Given the description of an element on the screen output the (x, y) to click on. 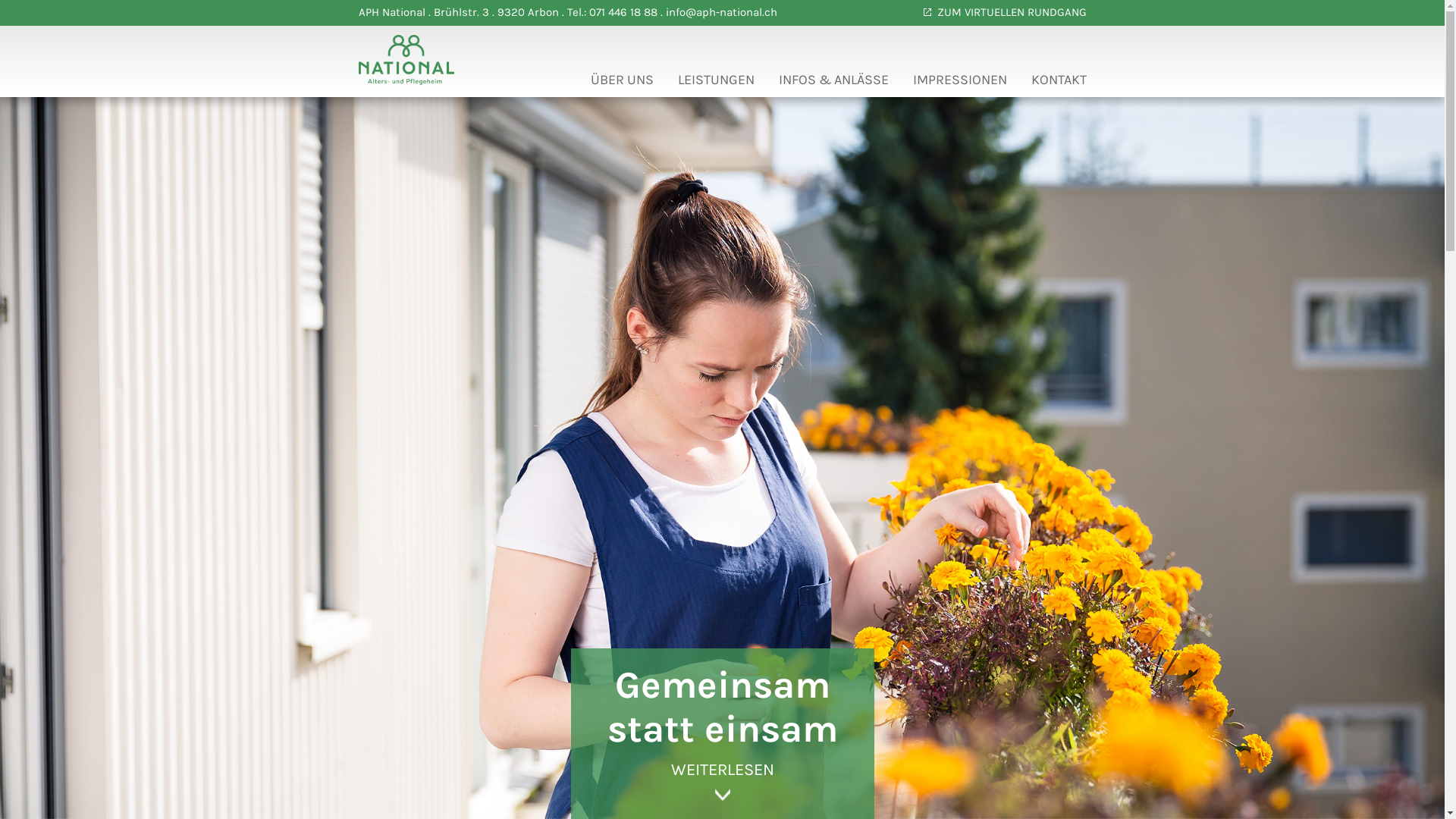
info@aph-national.ch Element type: text (721, 11)
IMPRESSIONEN Element type: text (960, 83)
Alters- und Pflegeheim National Element type: hover (405, 76)
ZUM VIRTUELLEN RUNDGANG Element type: text (1004, 11)
KONTAKT Element type: text (1058, 83)
LEISTUNGEN Element type: text (715, 83)
